Given the description of an element on the screen output the (x, y) to click on. 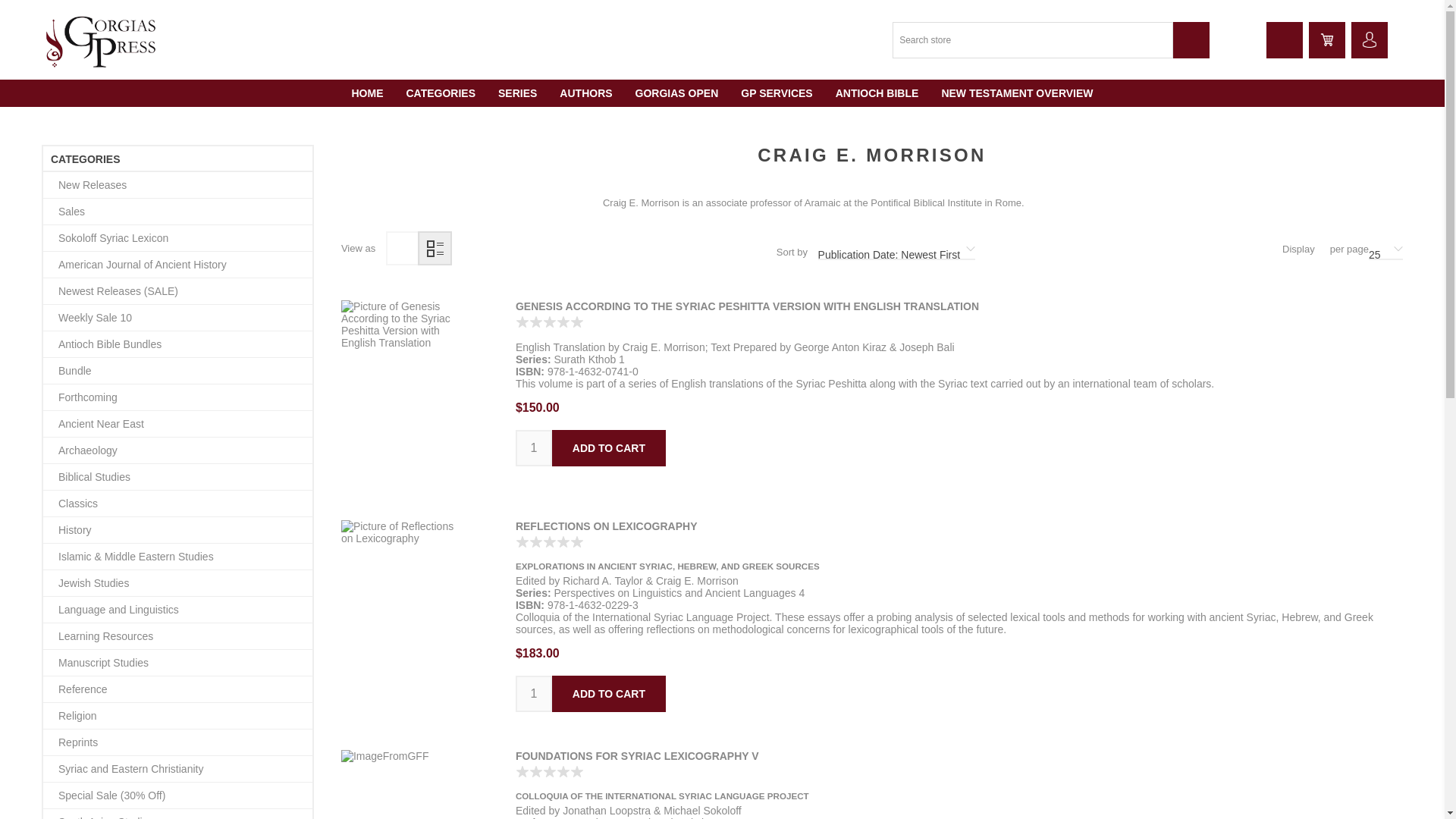
... (1369, 39)
Search (1191, 39)
GORGIAS OPEN (677, 93)
SERIES (517, 93)
Home (366, 93)
1 (533, 693)
AUTHORS (585, 93)
HOME (366, 93)
1 (533, 447)
Gorgias Press LLC (101, 39)
